Given the description of an element on the screen output the (x, y) to click on. 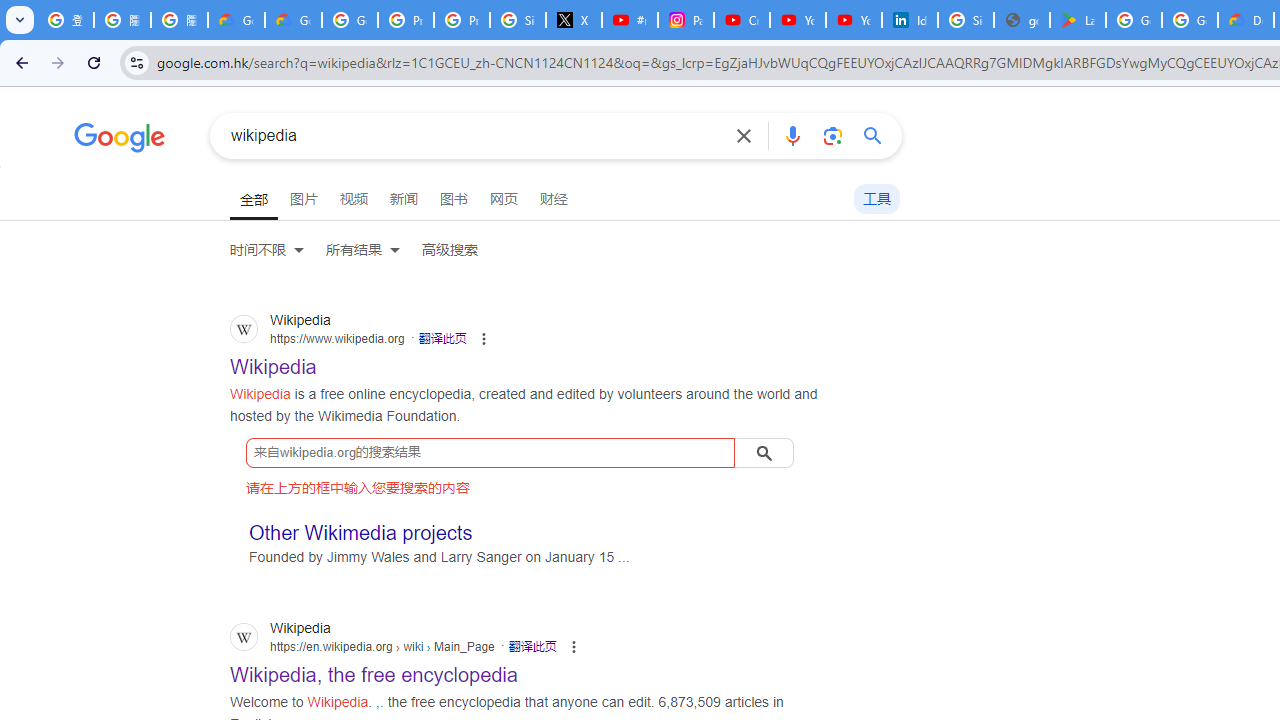
Privacy Help Center - Policies Help (405, 20)
YouTube Culture & Trends - YouTube Top 10, 2021 (853, 20)
